Given the description of an element on the screen output the (x, y) to click on. 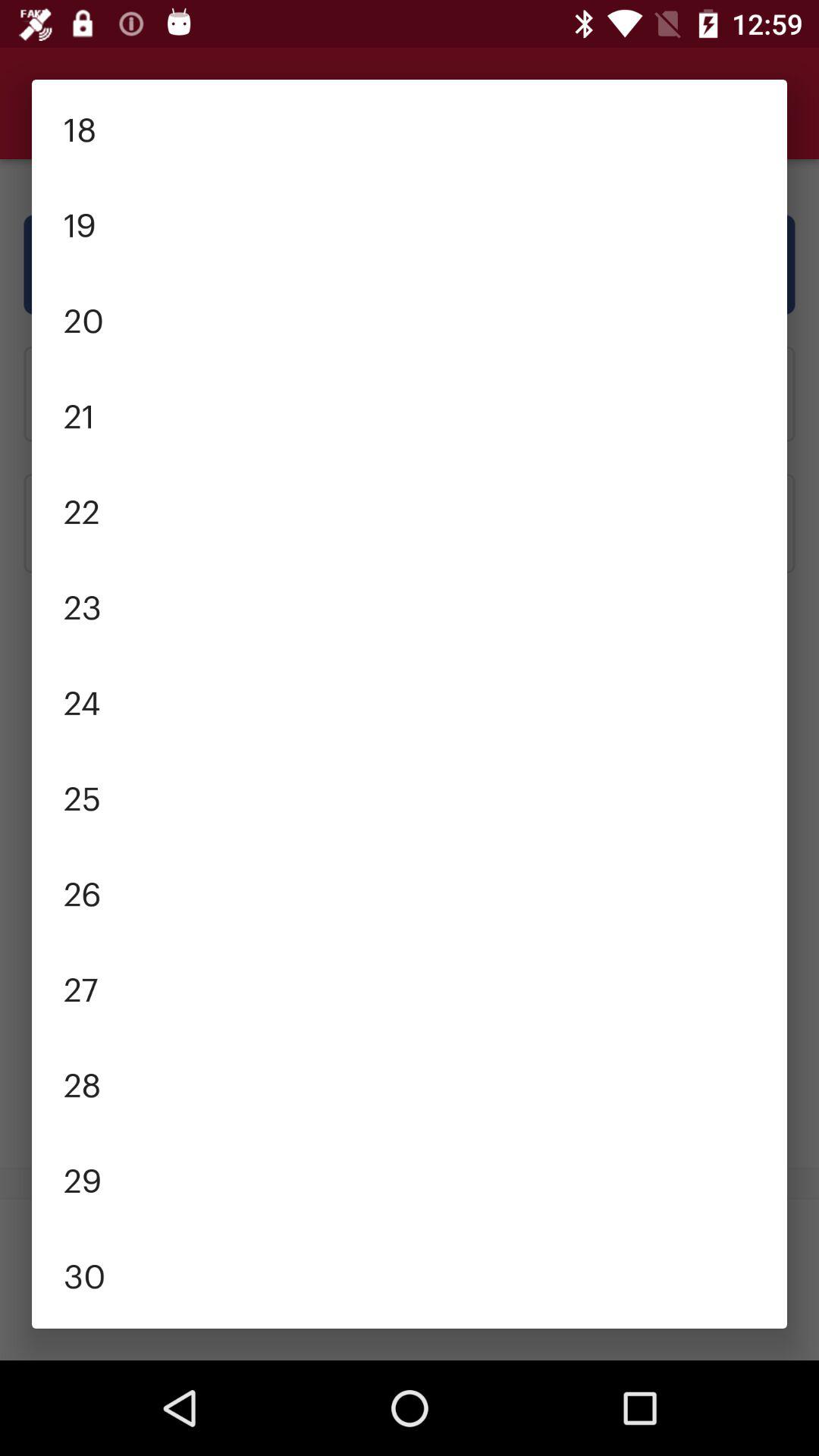
tap the 22 item (409, 509)
